Given the description of an element on the screen output the (x, y) to click on. 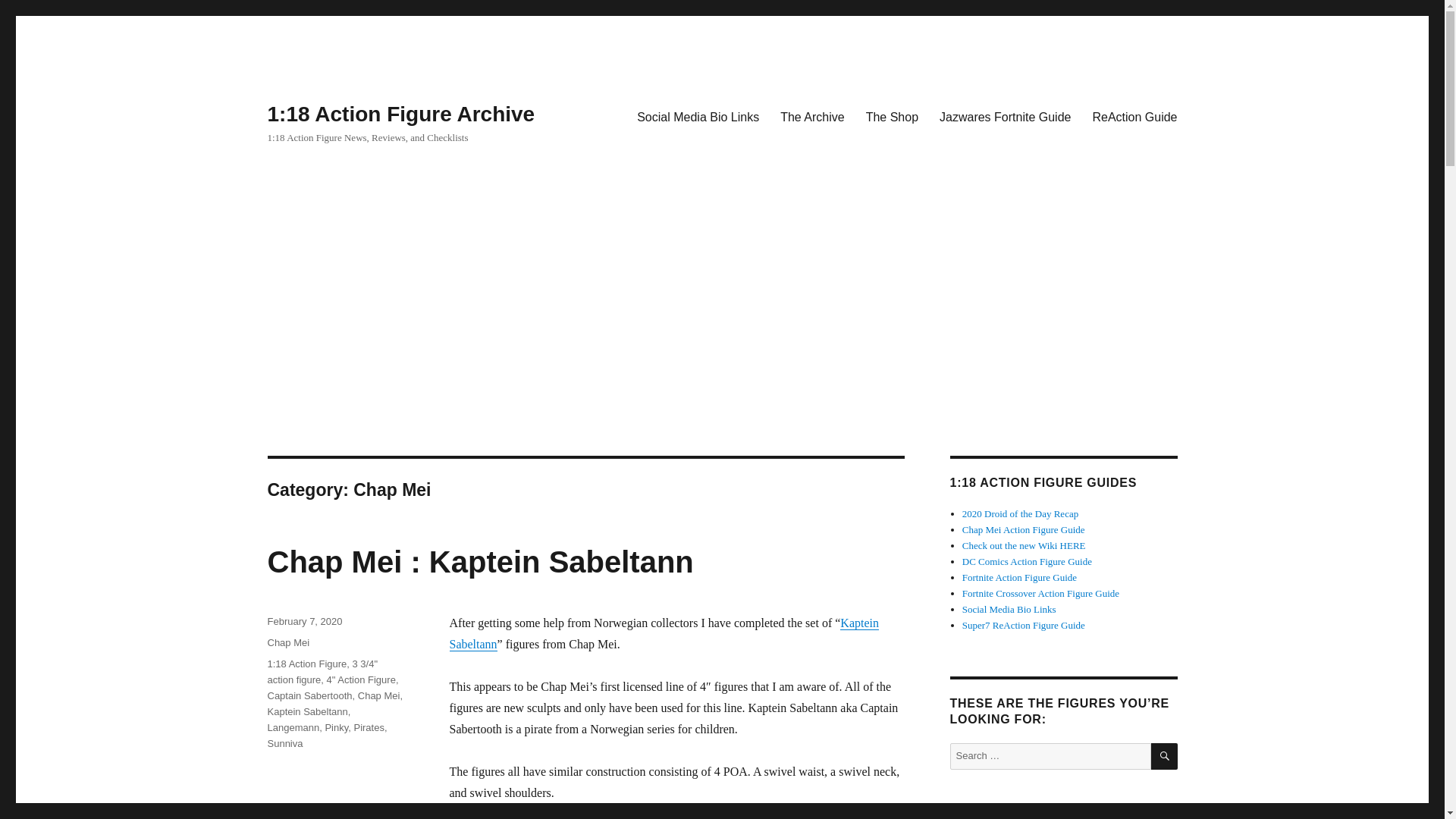
ReAction Guide (1134, 116)
Pirates (368, 727)
1:18 Action Figure (306, 663)
Langemann (292, 727)
Chap Mei : Kaptein Sabeltann (479, 561)
Chap Mei (287, 642)
Jazwares Fortnite Guide (1004, 116)
The Archive (812, 116)
4" Action Figure (361, 679)
